Given the description of an element on the screen output the (x, y) to click on. 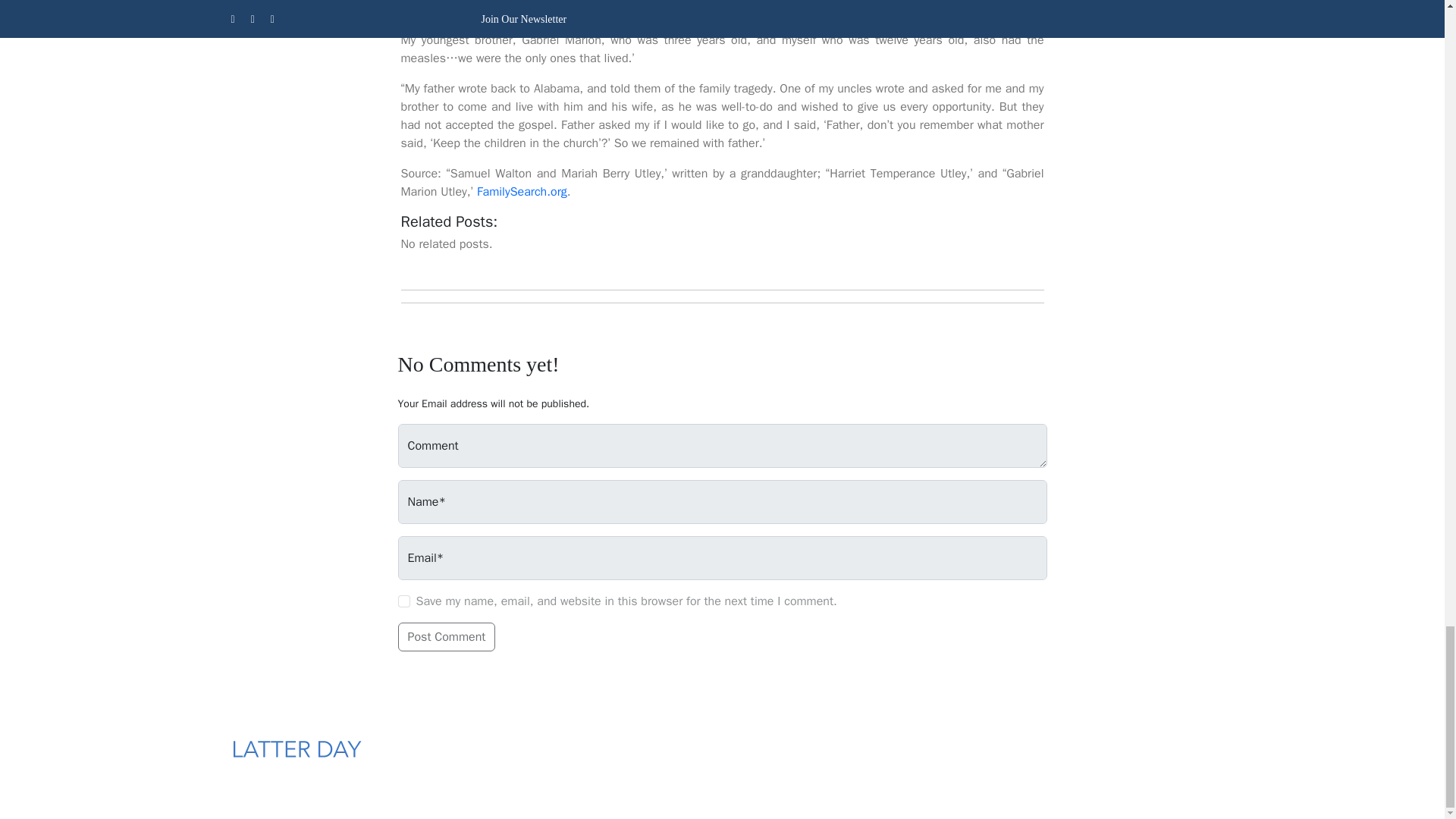
HOME (590, 753)
CONTACT (842, 753)
AUTHORS (761, 753)
ABOUT US (665, 753)
yes (403, 601)
FamilySearch.org (522, 191)
Post Comment (446, 636)
Post Comment (446, 636)
